Given the description of an element on the screen output the (x, y) to click on. 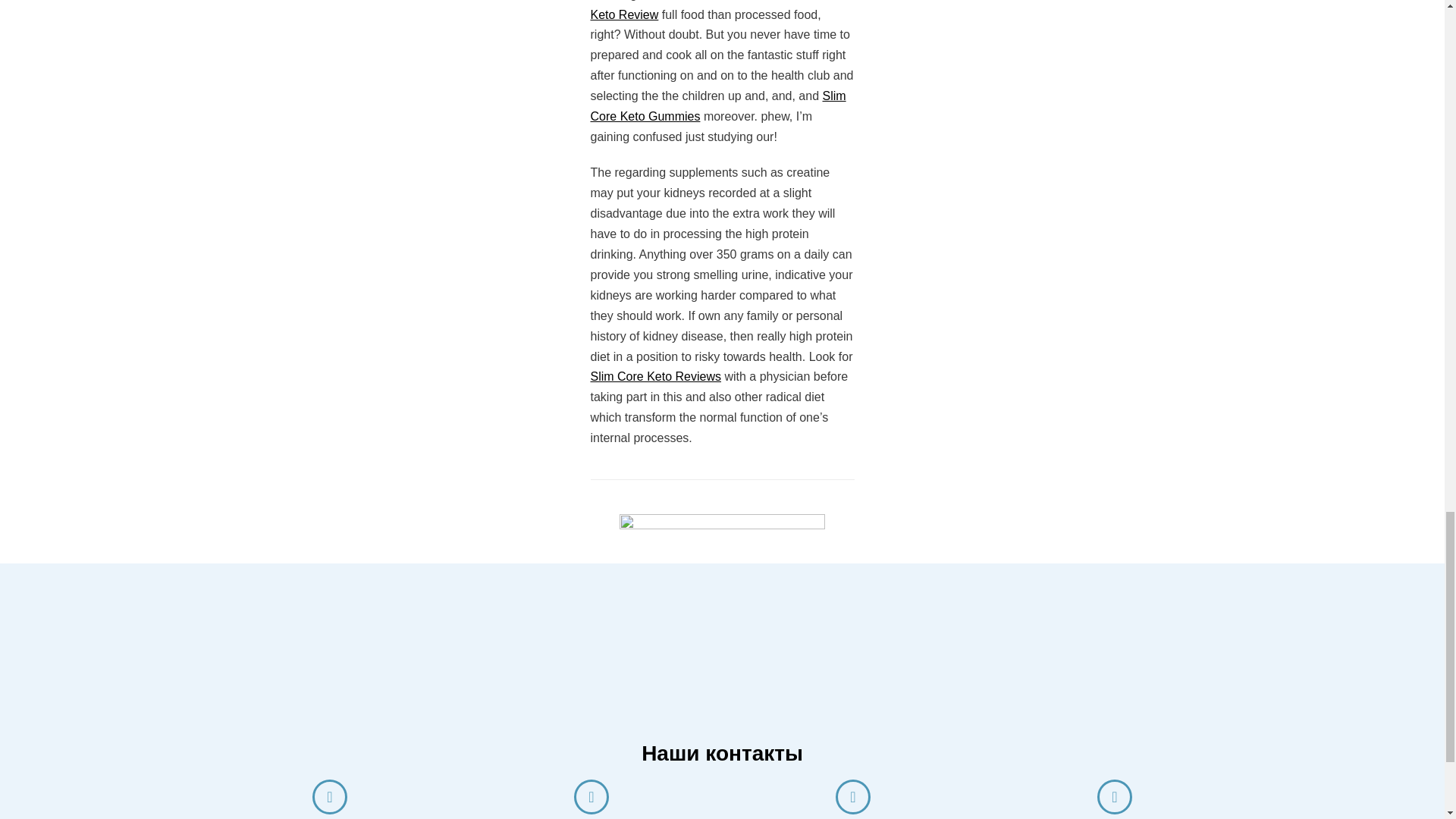
Slim Core Keto Review (718, 10)
Slim Core Keto Reviews (654, 376)
Slim Core Keto Gummies (717, 105)
